Given the description of an element on the screen output the (x, y) to click on. 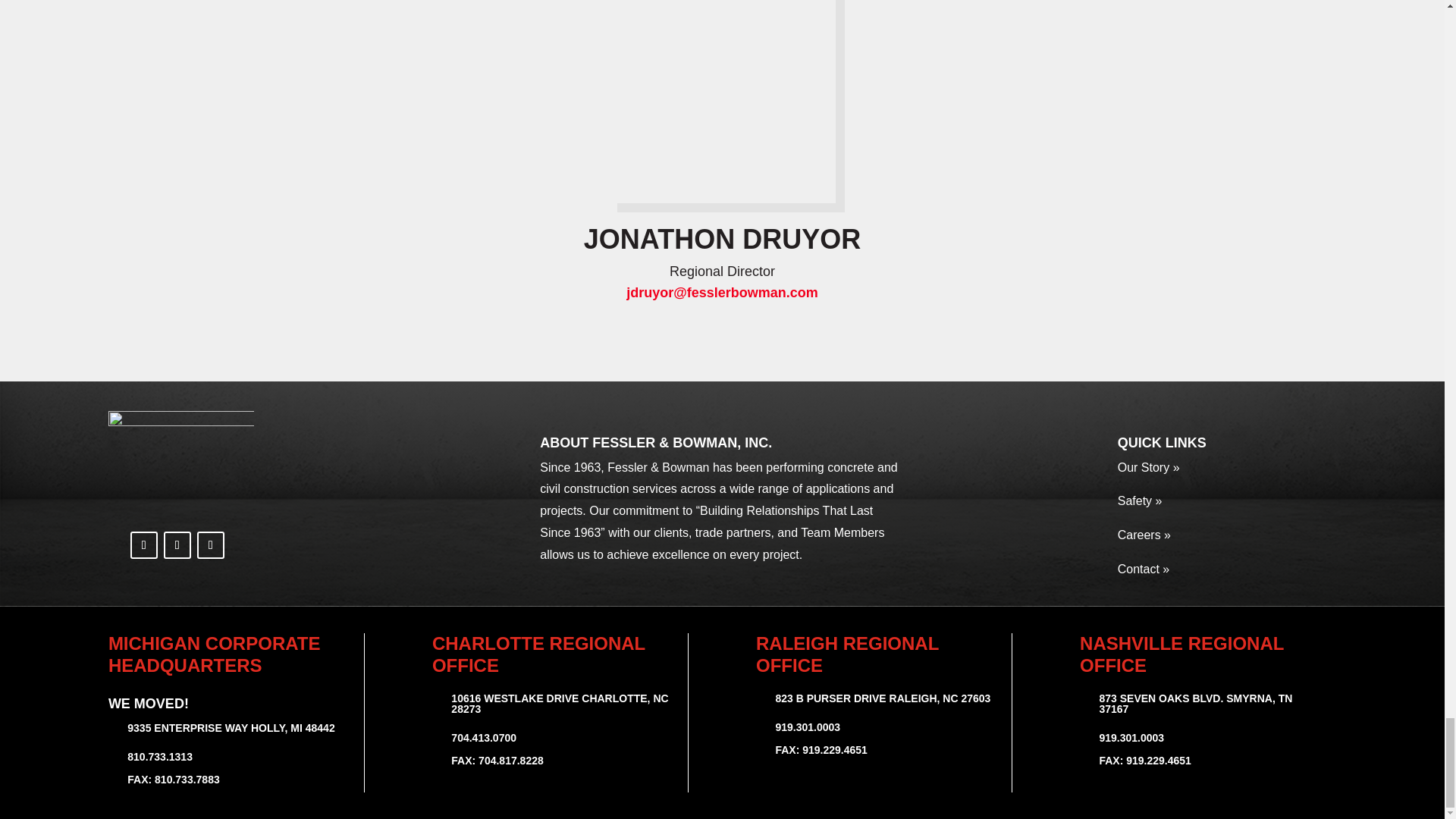
2018Logo-White (180, 466)
Follow on LinkedIn (210, 544)
Follow on Facebook (144, 544)
Follow on Instagram (176, 544)
